Given the description of an element on the screen output the (x, y) to click on. 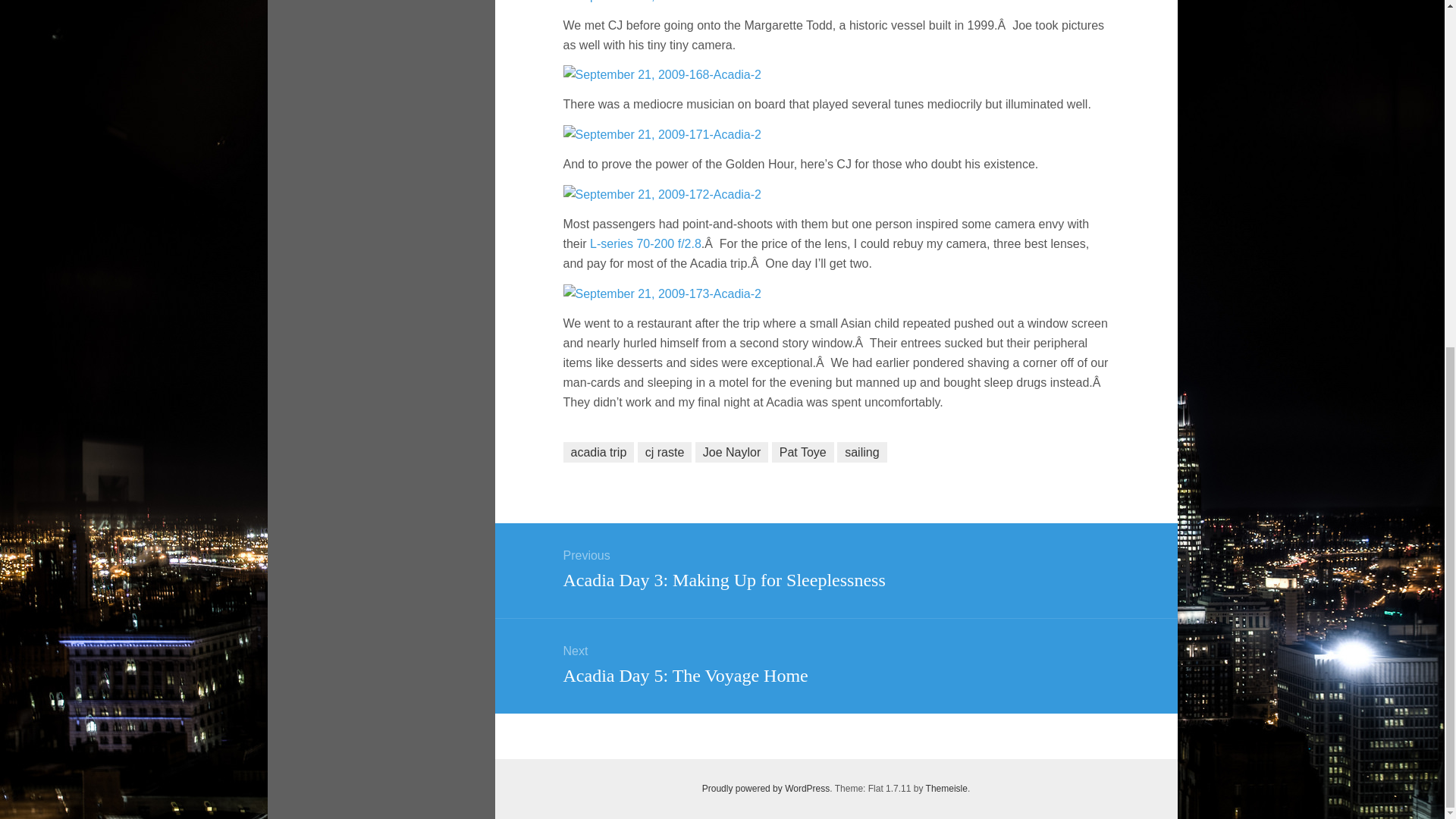
September 21, 2009-171-Acadia-2 (661, 133)
sailing (861, 452)
cj raste (665, 452)
September 21, 2009-172-Acadia-2 (661, 193)
Themeisle (947, 787)
September 21, 2009-168-Acadia-2 (661, 74)
Joe Naylor (731, 452)
Semantic Personal Publishing Platform (765, 787)
